Given the description of an element on the screen output the (x, y) to click on. 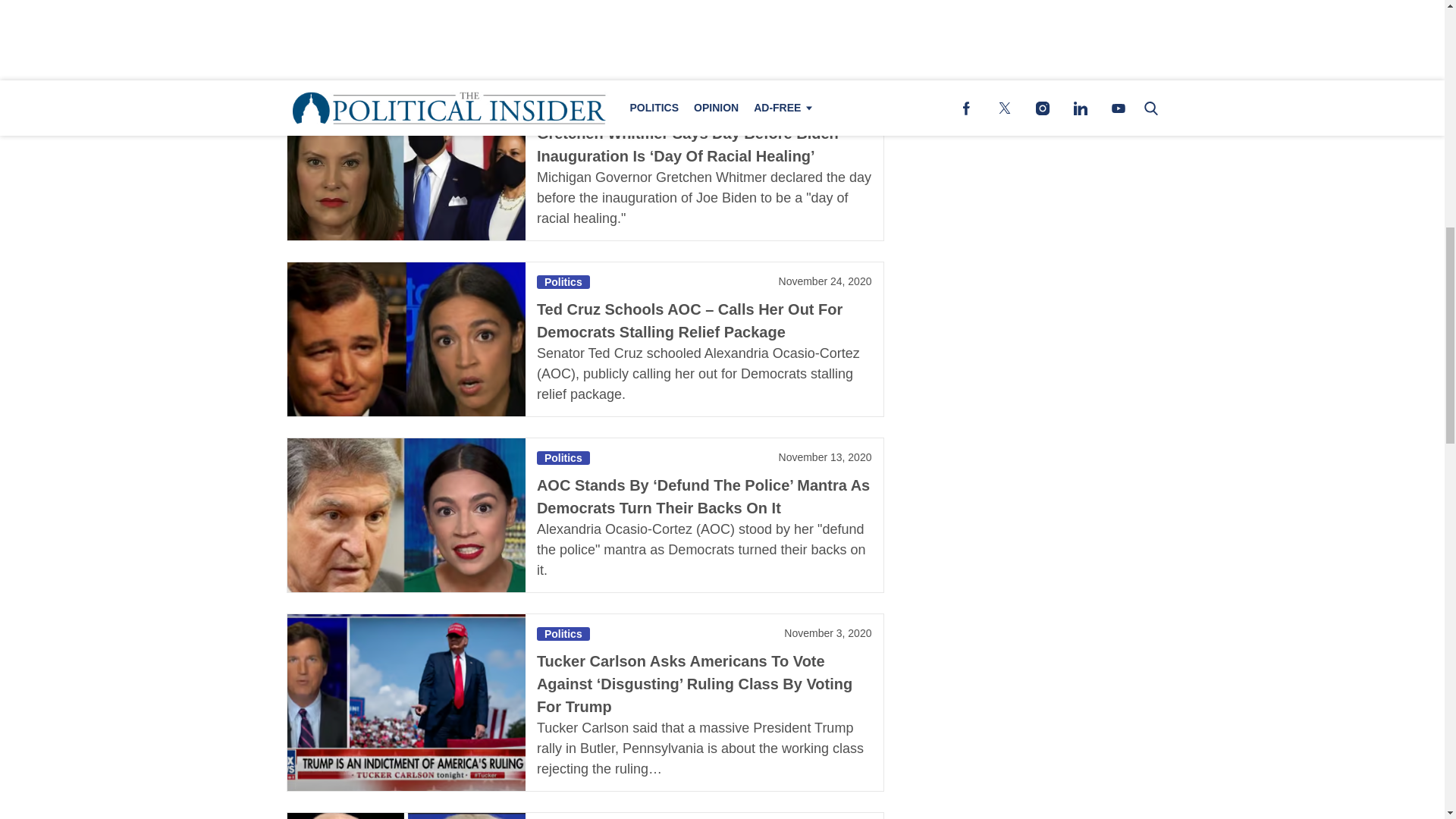
Politics (563, 458)
Politics (563, 633)
Politics (563, 282)
Politics (563, 106)
